Given the description of an element on the screen output the (x, y) to click on. 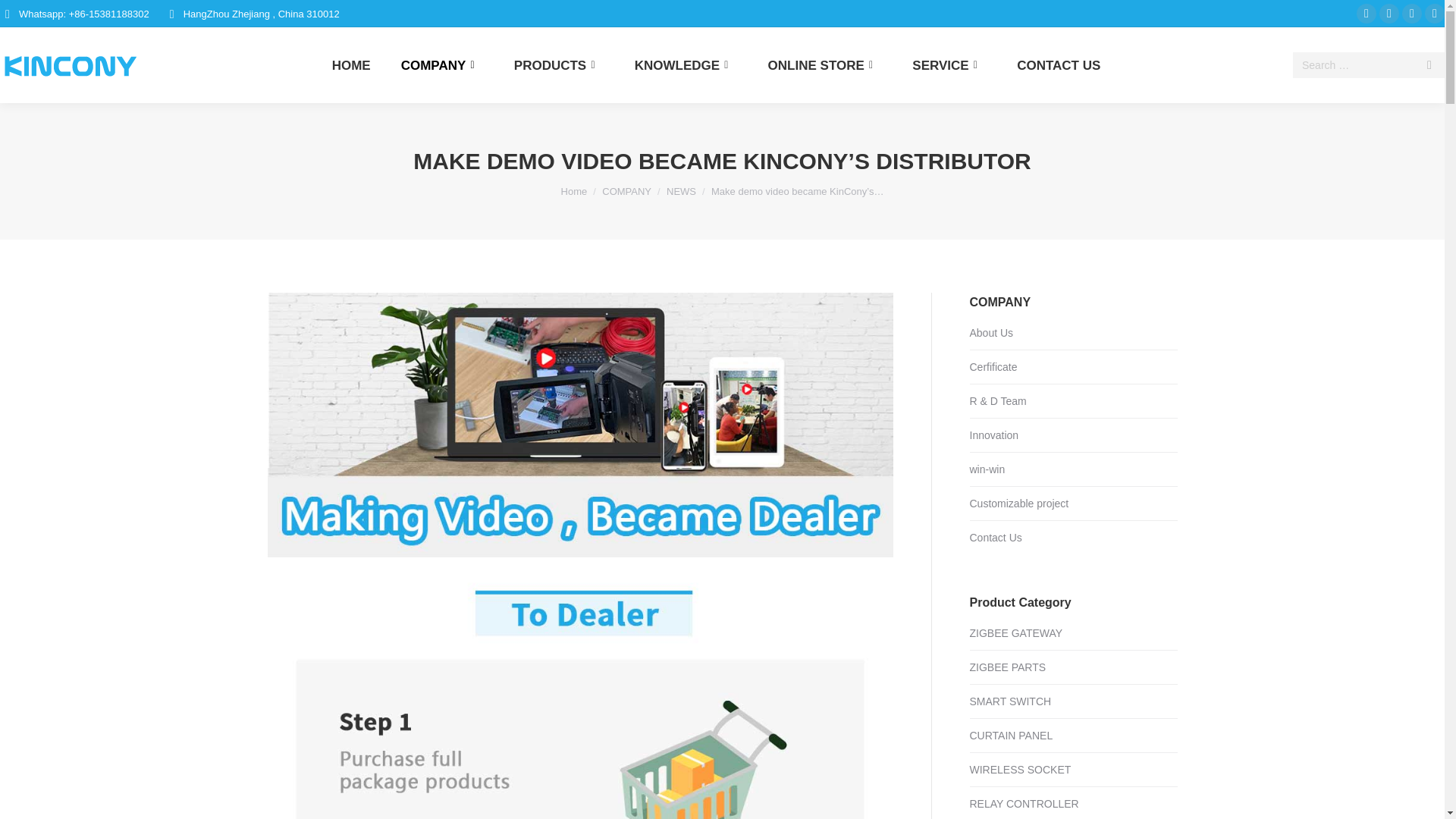
Twitter page opens in new window (1388, 13)
Home (574, 191)
COMPANY (442, 65)
Facebook page opens in new window (1365, 13)
Skype page opens in new window (1412, 13)
Twitter page opens in new window (1388, 13)
HOME (351, 65)
Skype page opens in new window (1412, 13)
PRODUCTS (559, 65)
Facebook page opens in new window (1365, 13)
COMPANY (626, 191)
